Given the description of an element on the screen output the (x, y) to click on. 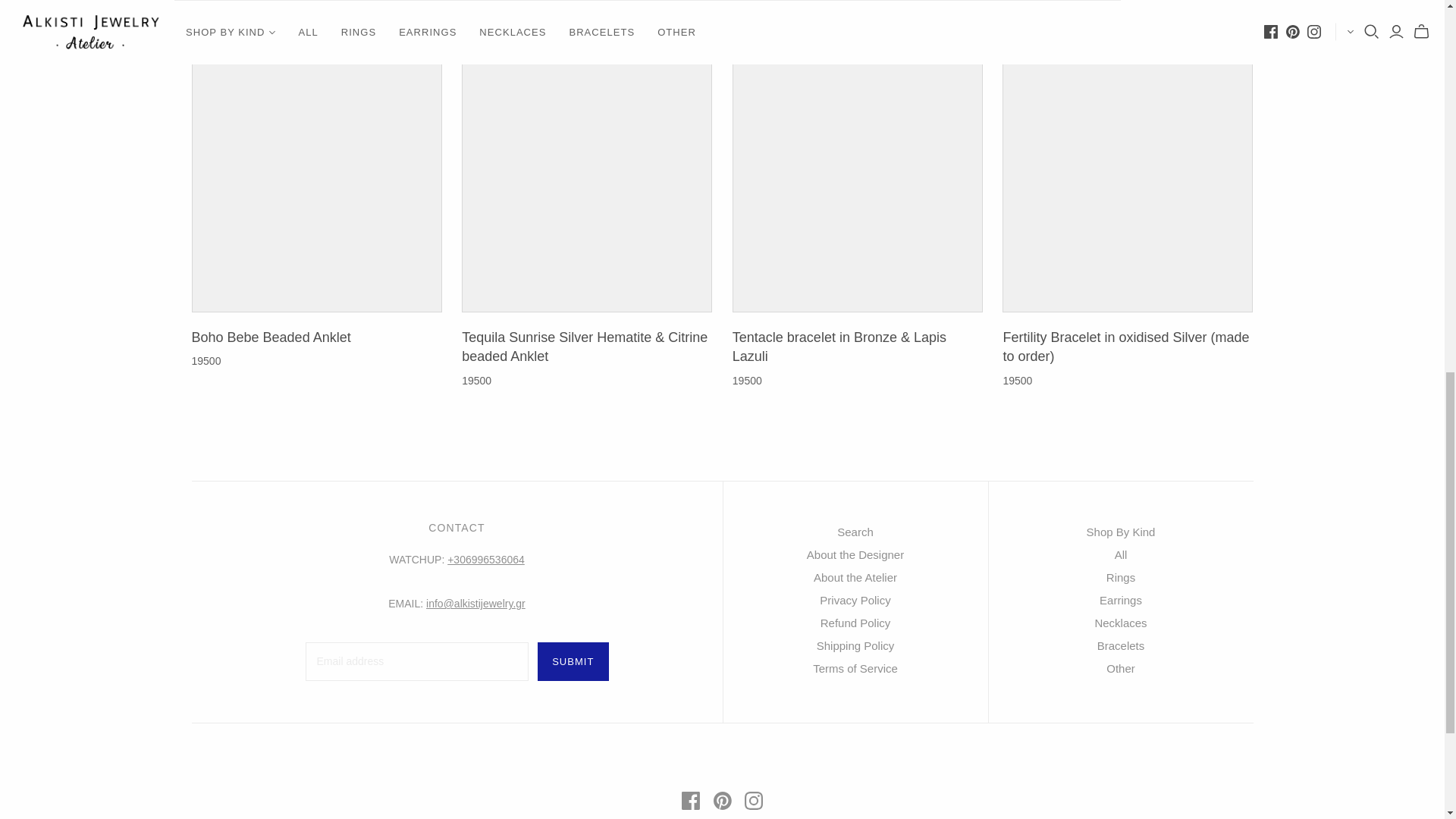
Submit (572, 661)
Instagram Icon (753, 800)
Facebook Icon (690, 800)
Pinterest Icon (721, 800)
